Given the description of an element on the screen output the (x, y) to click on. 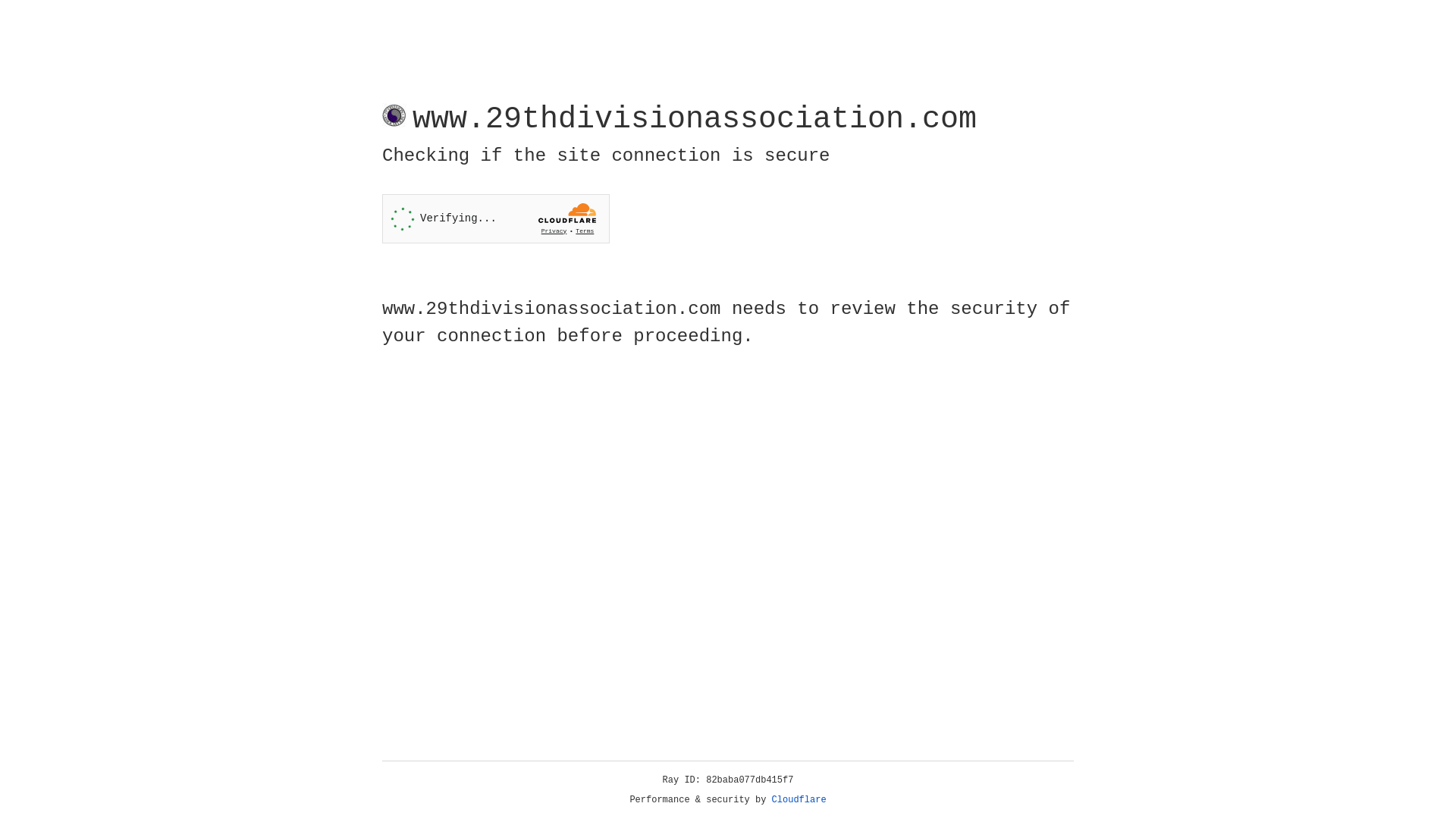
Cloudflare Element type: text (798, 799)
Widget containing a Cloudflare security challenge Element type: hover (495, 218)
